Given the description of an element on the screen output the (x, y) to click on. 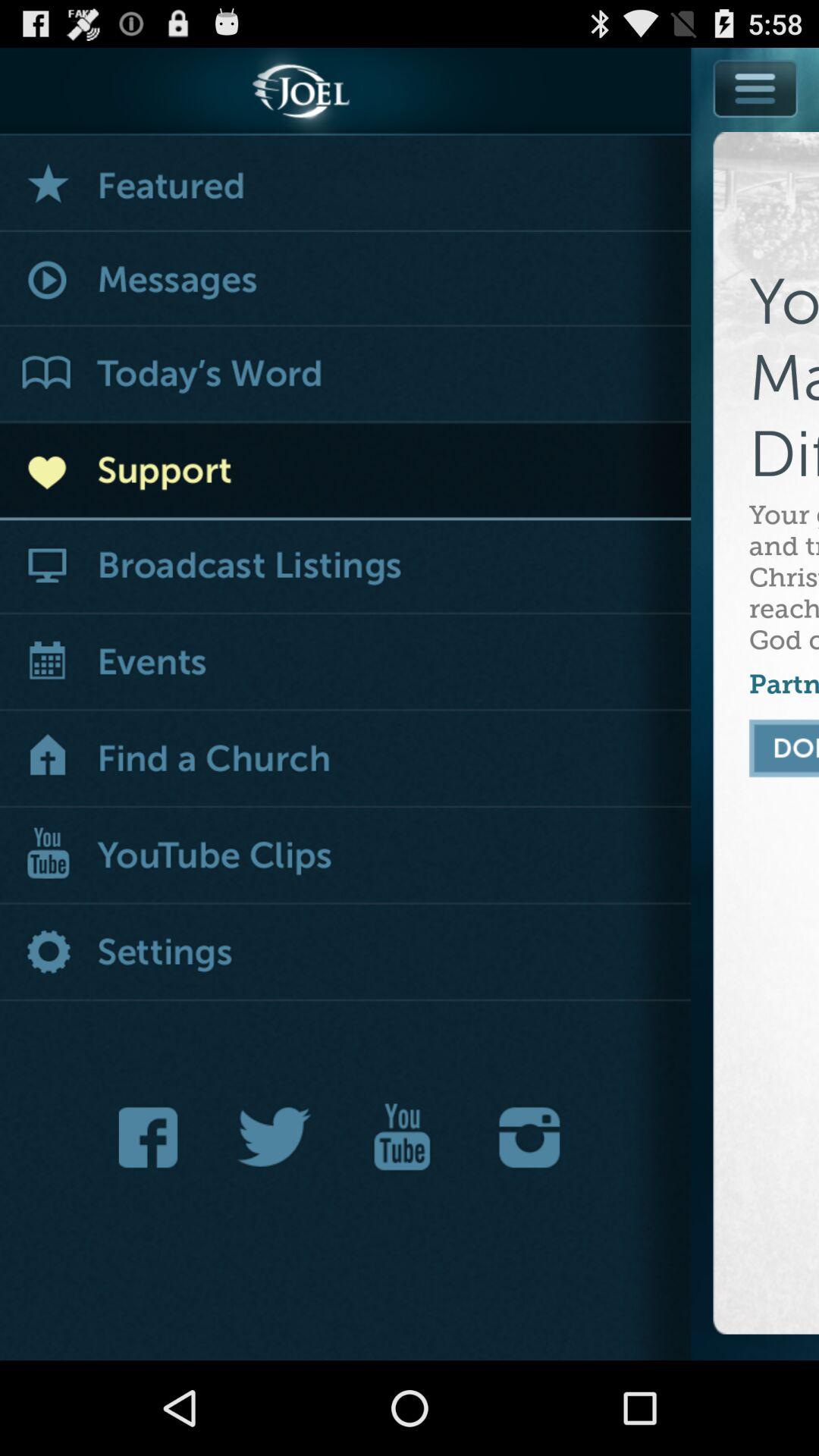
settings button (345, 953)
